Given the description of an element on the screen output the (x, y) to click on. 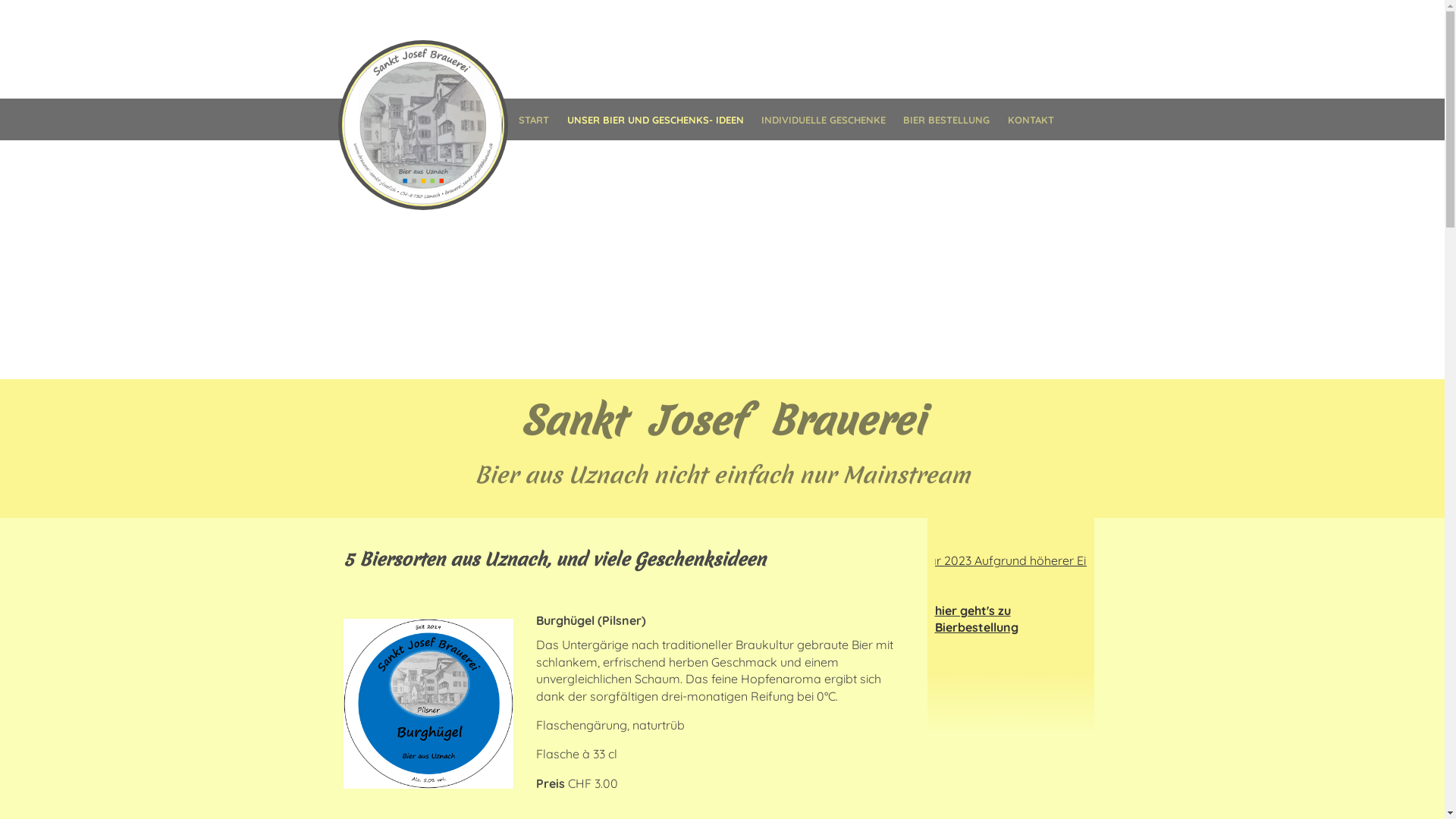
hier geht's zu Bierbestellung Element type: text (975, 618)
UNSER BIER UND GESCHENKS- IDEEN Element type: text (655, 119)
KONTAKT Element type: text (1030, 119)
BIER BESTELLUNG Element type: text (946, 119)
  Element type: text (422, 124)
START Element type: text (533, 119)
INDIVIDUELLE GESCHENKE Element type: text (823, 119)
